Given the description of an element on the screen output the (x, y) to click on. 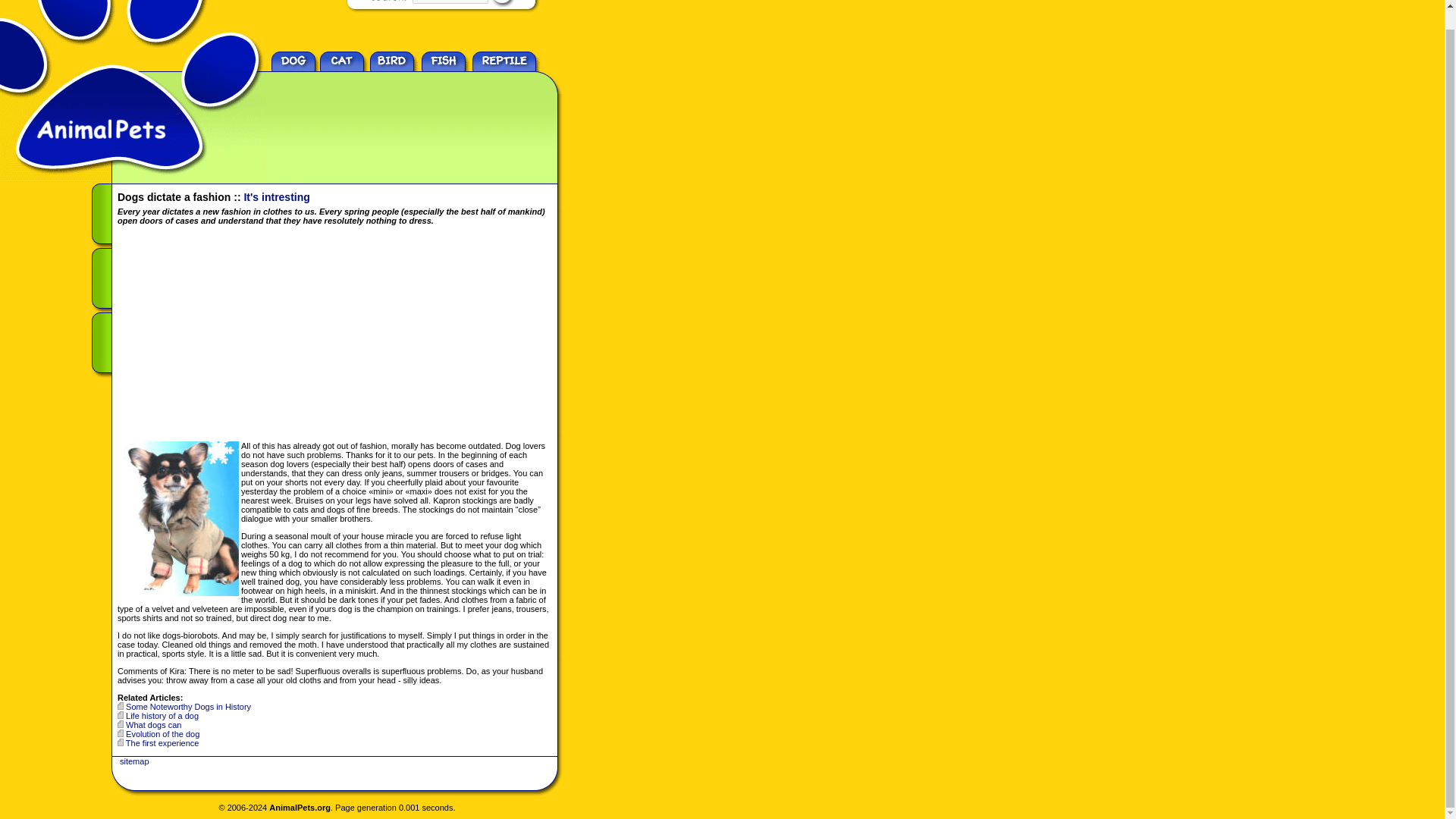
What dogs can (152, 724)
Advertisement (244, 335)
Advertisement (394, 116)
It's intresting (275, 196)
Some Noteworthy Dogs in History (187, 706)
Evolution of the dog (162, 733)
send (502, 3)
sitemap (134, 760)
The first experience (162, 742)
Life history of a dog (161, 715)
